Given the description of an element on the screen output the (x, y) to click on. 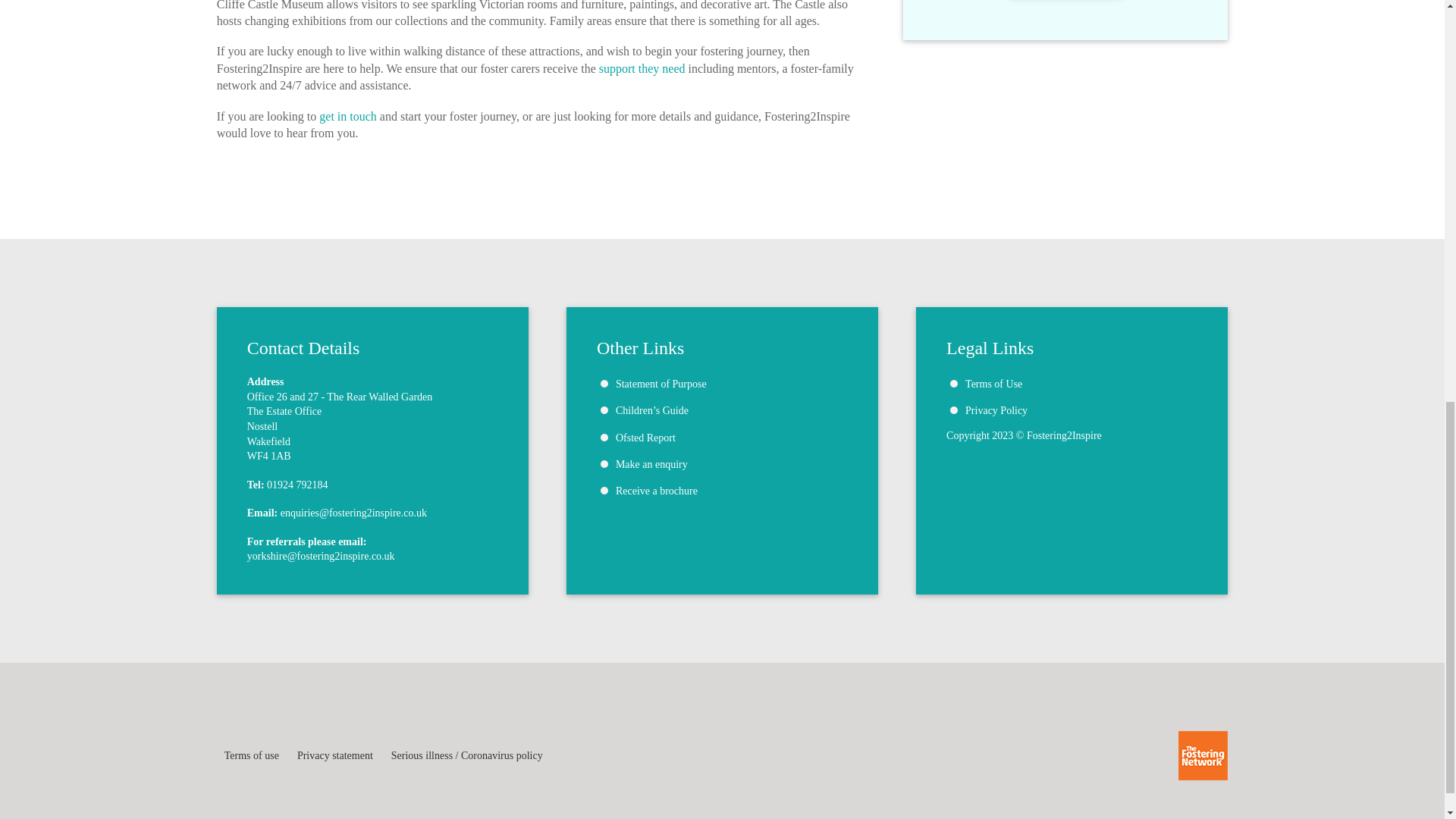
get in touch (347, 115)
Statement of Purpose (660, 383)
Ofsted Report (645, 437)
support they need (641, 68)
Receive a brochure (656, 490)
Make an enquiry (651, 464)
Privacy Policy (996, 410)
Terms of Use (993, 383)
01924 792184 (297, 484)
